Given the description of an element on the screen output the (x, y) to click on. 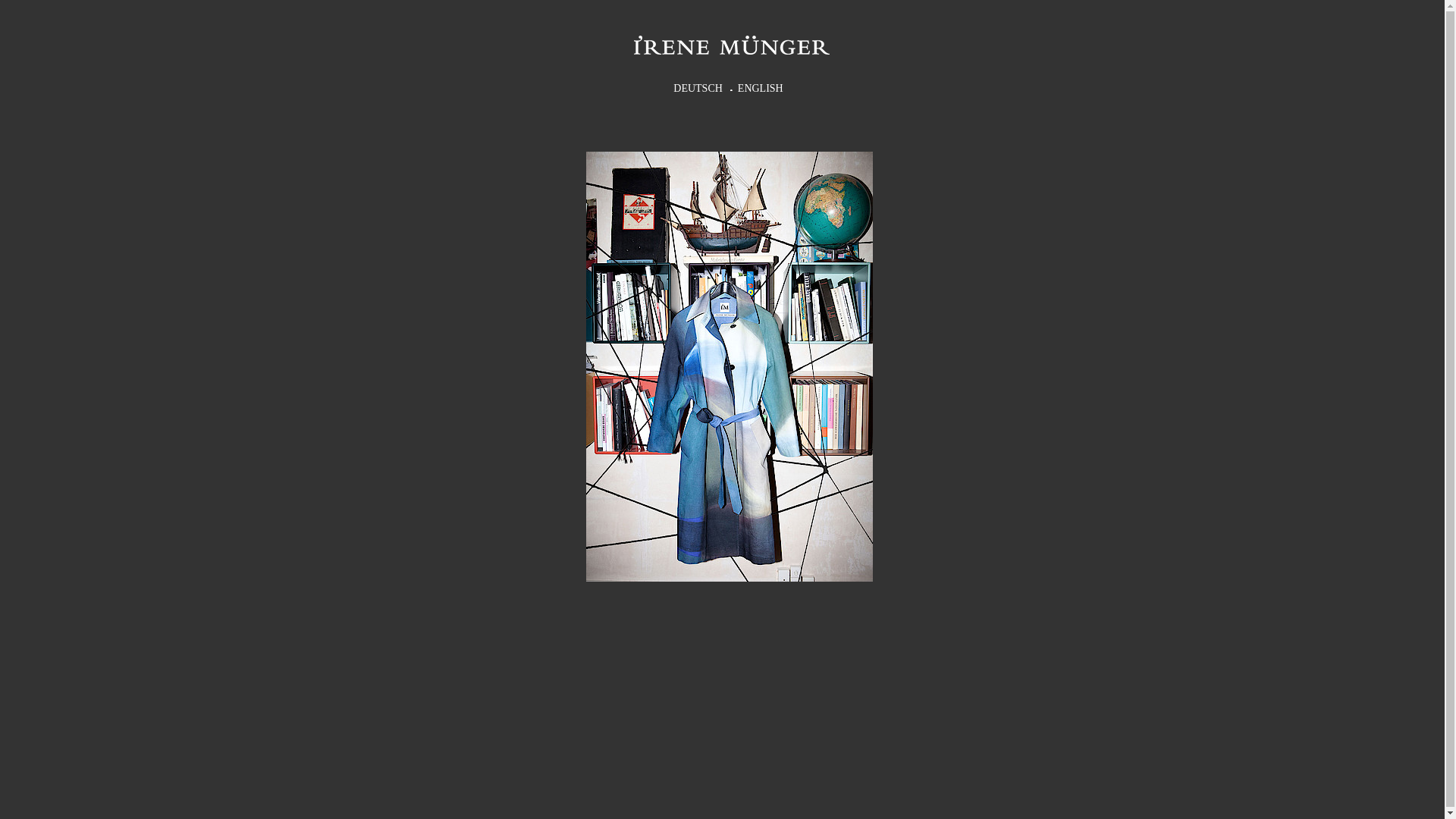
DEUTSCH Element type: text (697, 85)
ENGLISH Element type: text (760, 85)
Firmenname Element type: hover (730, 45)
